Given the description of an element on the screen output the (x, y) to click on. 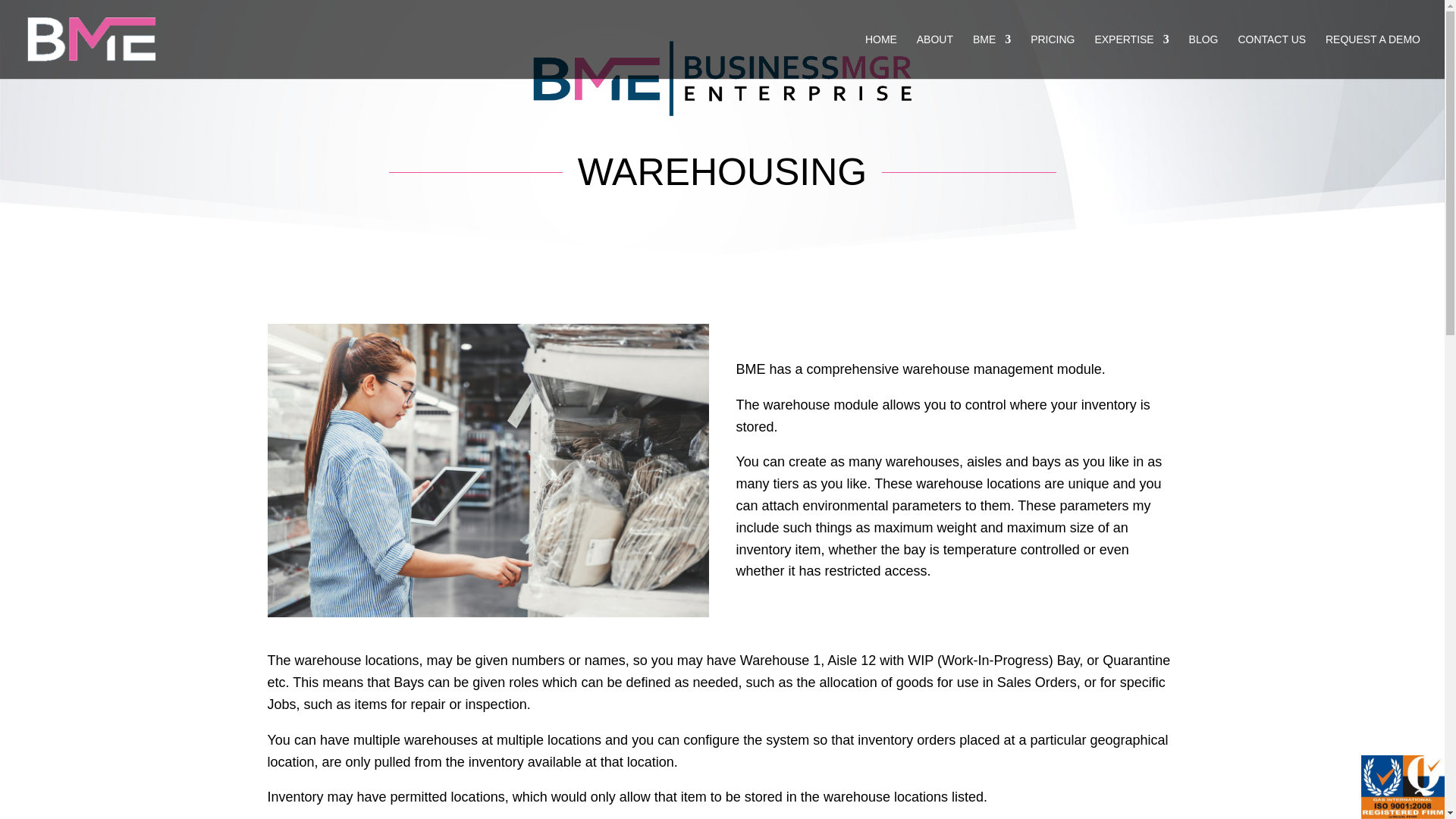
REQUEST A DEMO (1372, 56)
CONTACT US (1271, 56)
EXPERTISE (1131, 56)
PRICING (1052, 56)
Logo Black.-pink (721, 78)
